Given the description of an element on the screen output the (x, y) to click on. 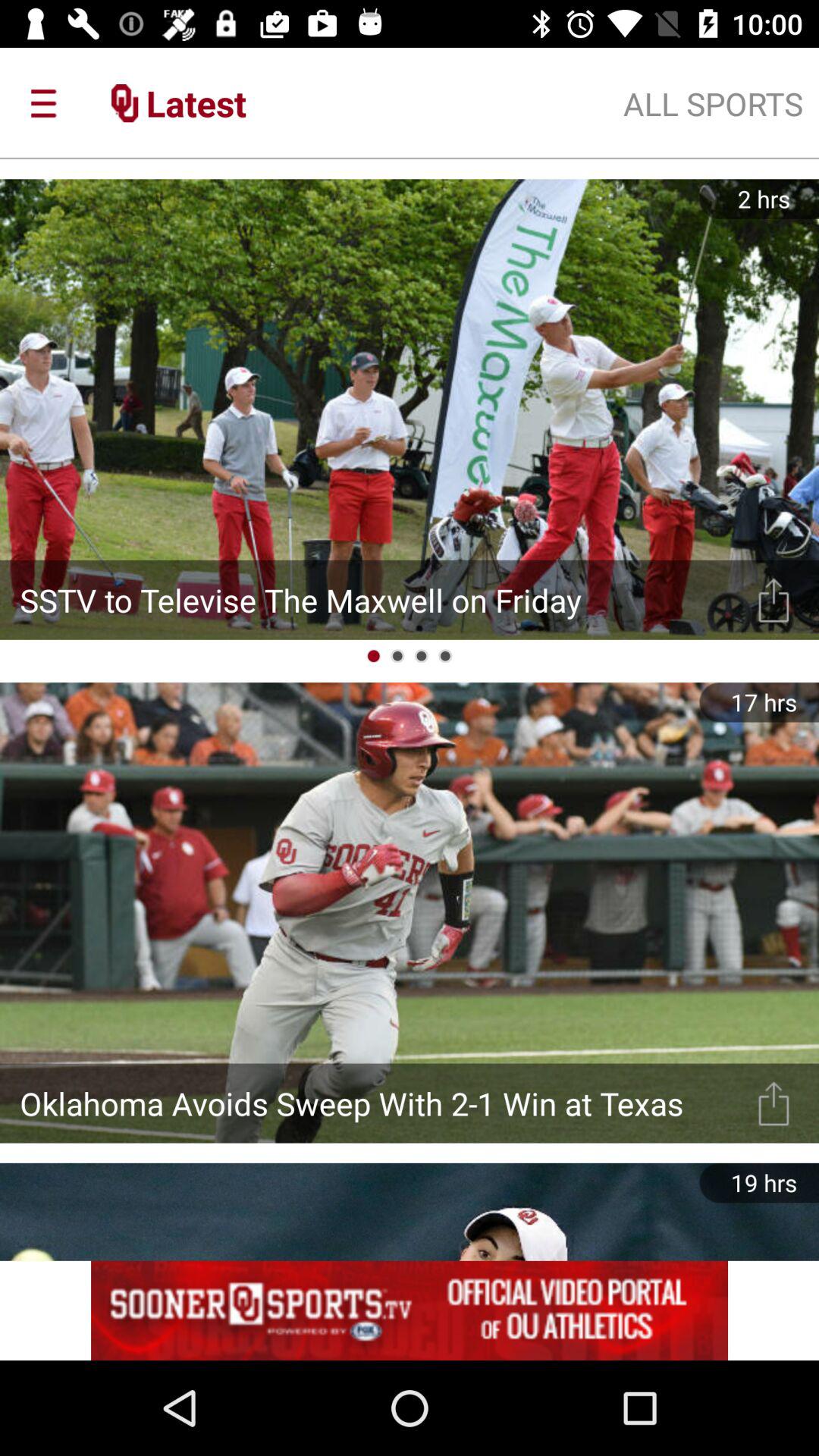
share the article (773, 599)
